Given the description of an element on the screen output the (x, y) to click on. 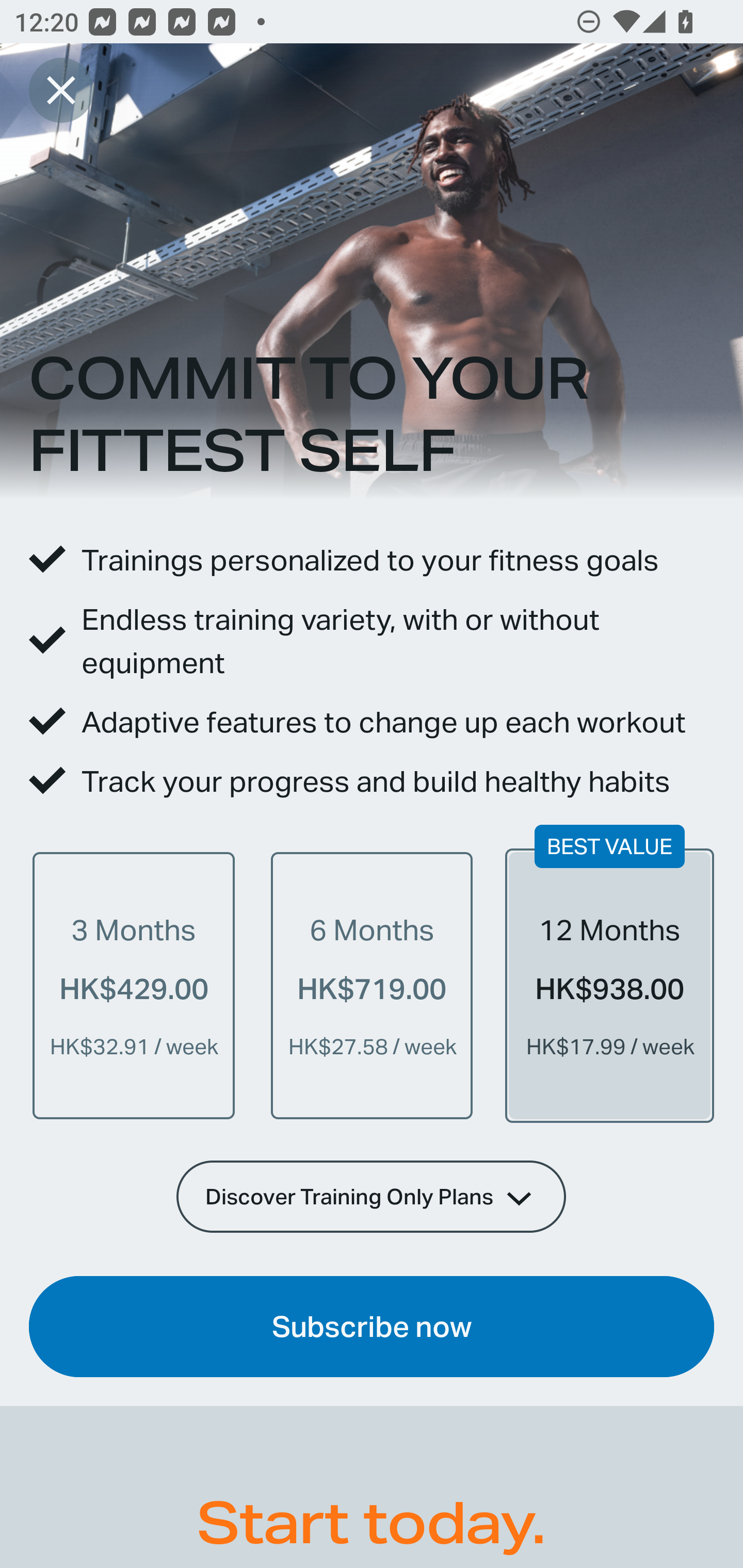
Close (60, 90)
3 Months HK$429.00 HK$32.91 / week (133, 985)
6 Months HK$719.00 HK$27.58 / week (371, 985)
12 Months HK$938.00 HK$17.99 / week (609, 985)
Discover Training Only Plans (371, 1196)
Subscribe now (371, 1326)
